Given the description of an element on the screen output the (x, y) to click on. 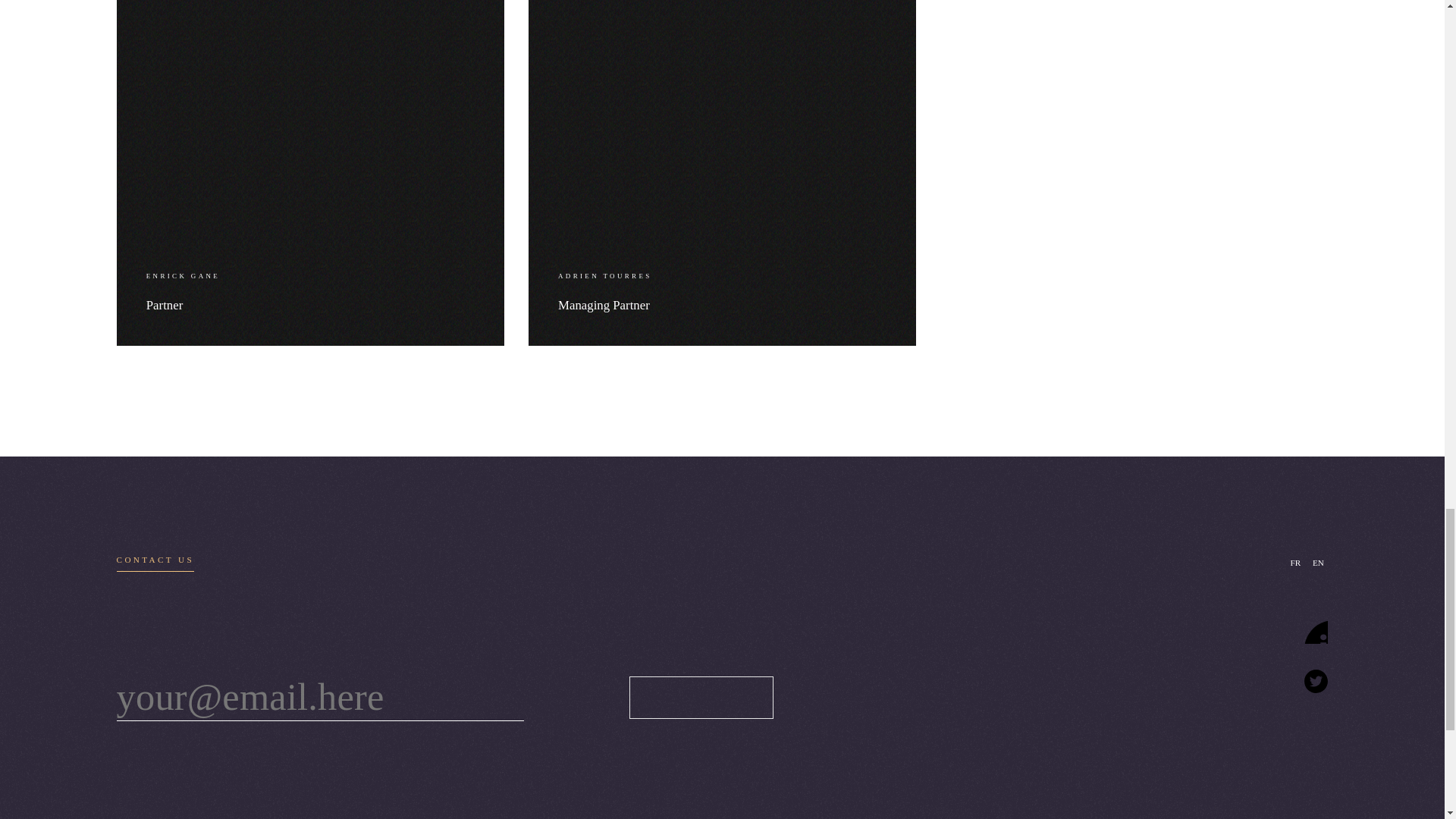
CONTACT US (154, 563)
FR (1295, 562)
